Given the description of an element on the screen output the (x, y) to click on. 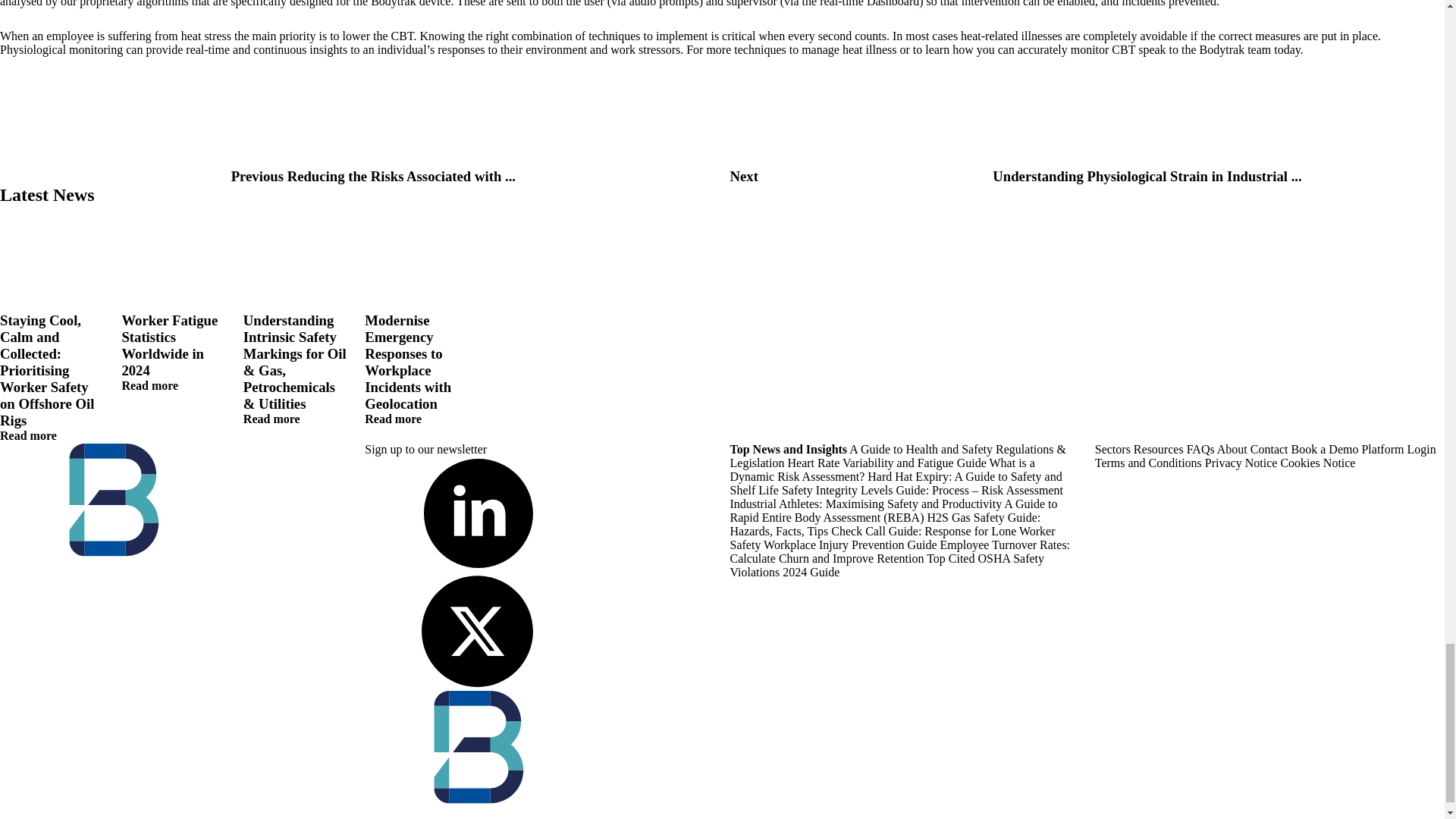
Worker Fatigue Statistics Worldwide in 2024 (148, 385)
Worker Fatigue Statistics Worldwide in 2024 (173, 258)
